Given the description of an element on the screen output the (x, y) to click on. 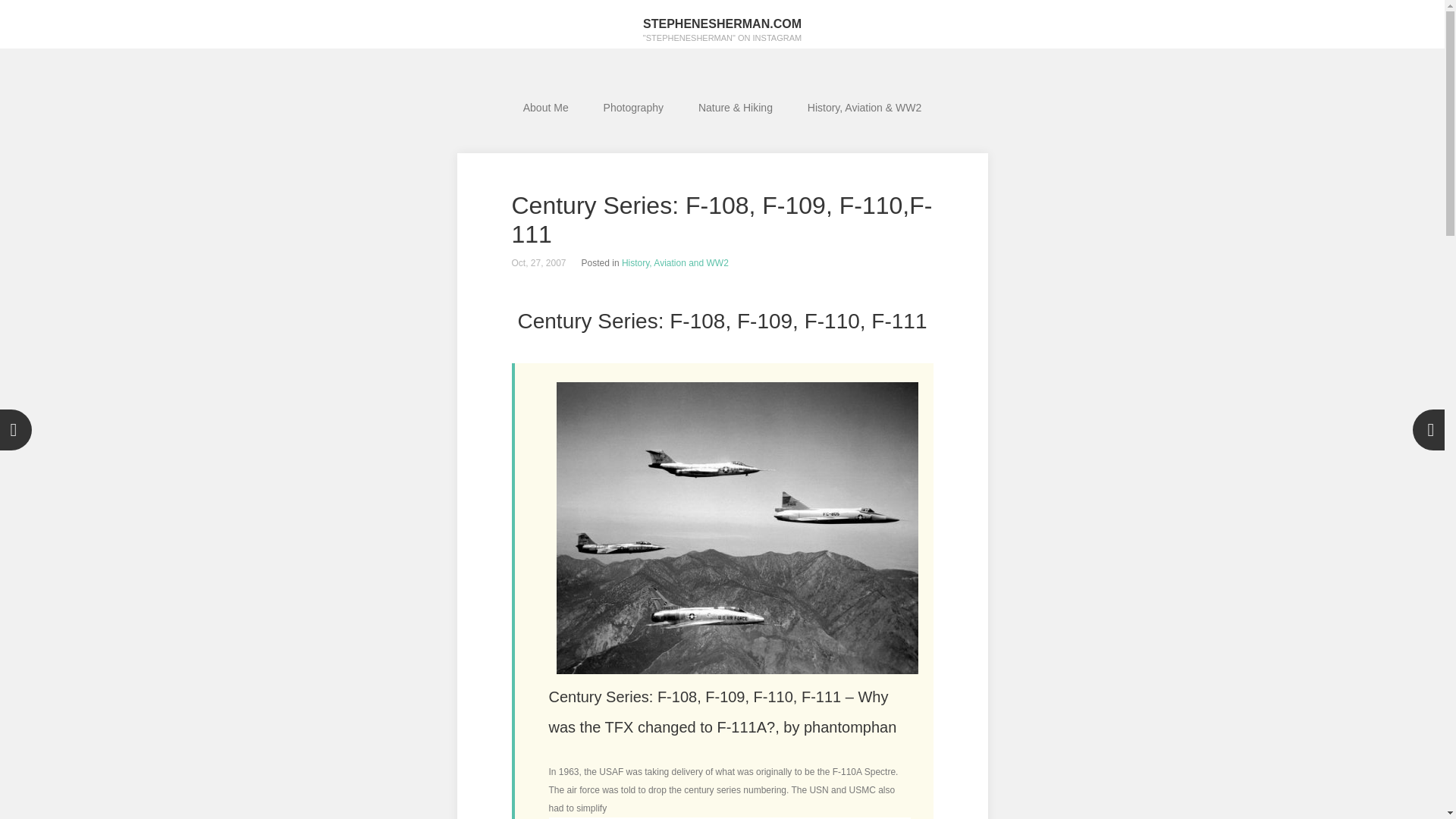
About Me (545, 107)
History, Aviation and WW2 (675, 262)
Photography (633, 107)
